Given the description of an element on the screen output the (x, y) to click on. 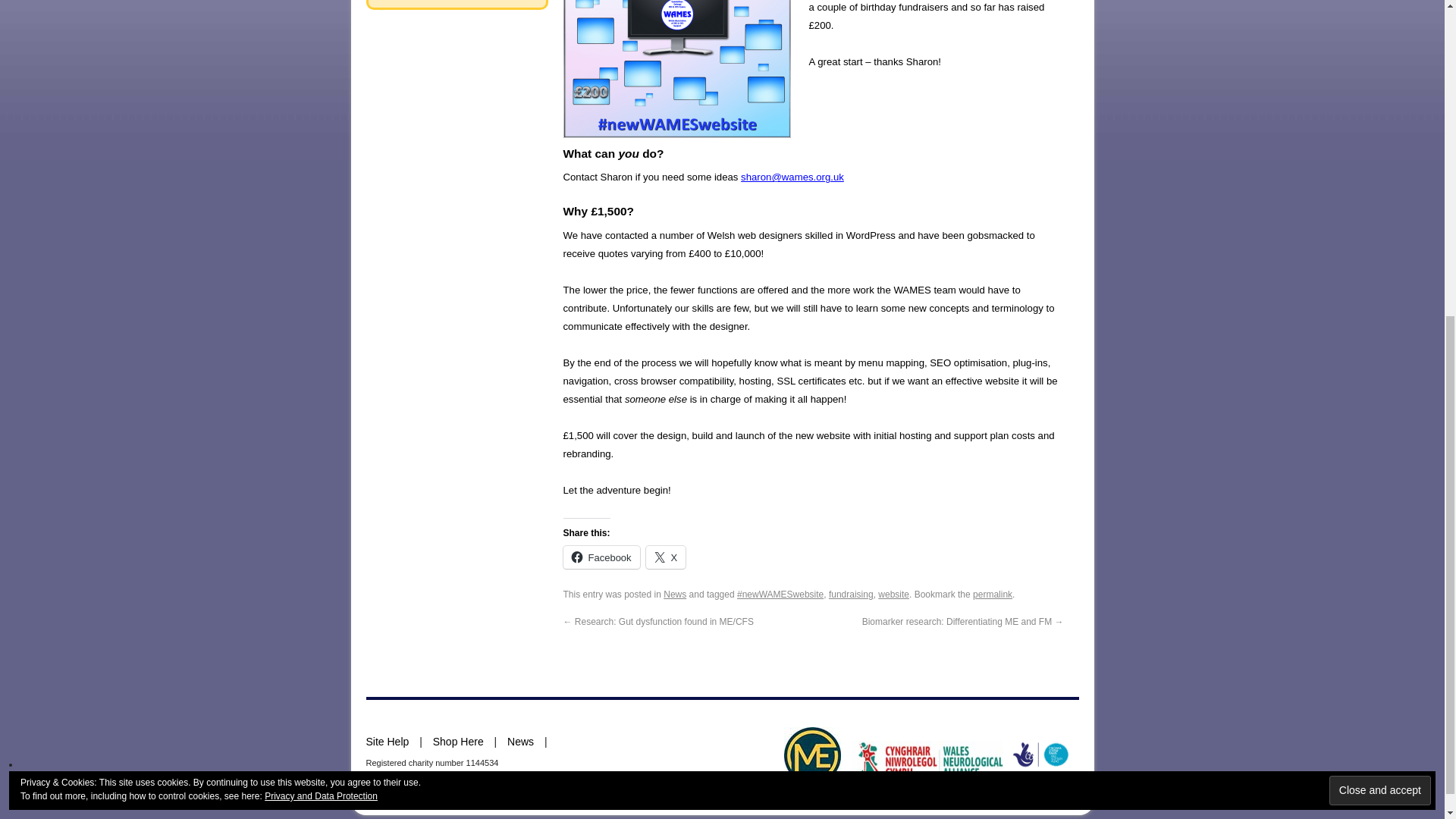
fundraising (850, 593)
Shop Here (458, 741)
Close and accept (1380, 267)
website (892, 593)
permalink (991, 593)
Facebook (600, 557)
X (665, 557)
Click to share on Facebook (600, 557)
News (674, 593)
Site Help (387, 741)
